Given the description of an element on the screen output the (x, y) to click on. 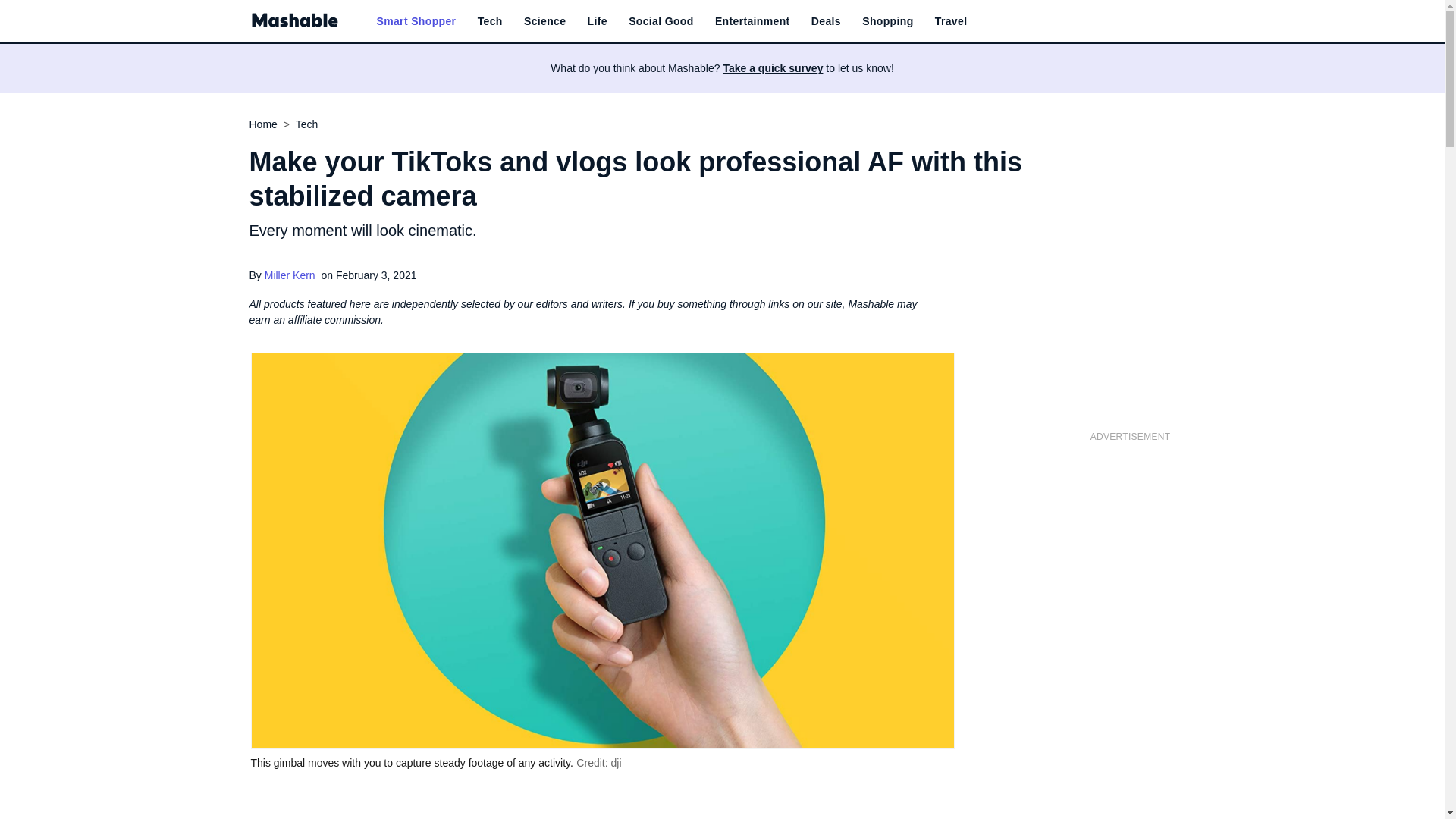
Life (597, 21)
Tech (489, 21)
Entertainment (752, 21)
Social Good (661, 21)
Science (545, 21)
Smart Shopper (415, 21)
Shopping (886, 21)
Travel (951, 21)
Deals (825, 21)
